Given the description of an element on the screen output the (x, y) to click on. 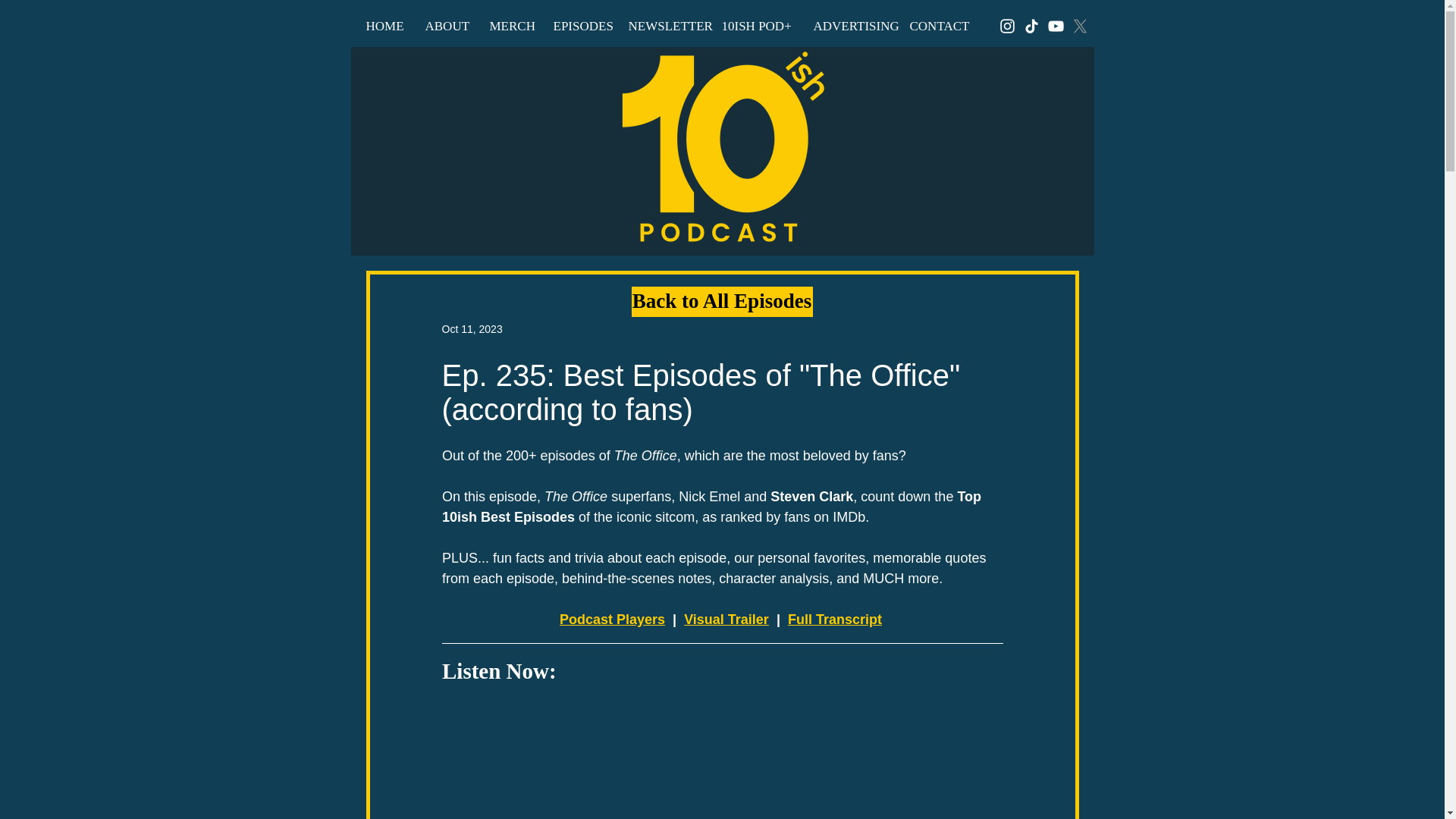
Podcast Players (612, 619)
Back to All Episodes (721, 301)
HOME (384, 26)
Oct 11, 2023 (471, 328)
CONTACT (936, 26)
Visual Trailer (726, 619)
MERCH (509, 26)
ABOUT (446, 26)
Full Transcript (833, 619)
NEWSLETTER (663, 26)
